Given the description of an element on the screen output the (x, y) to click on. 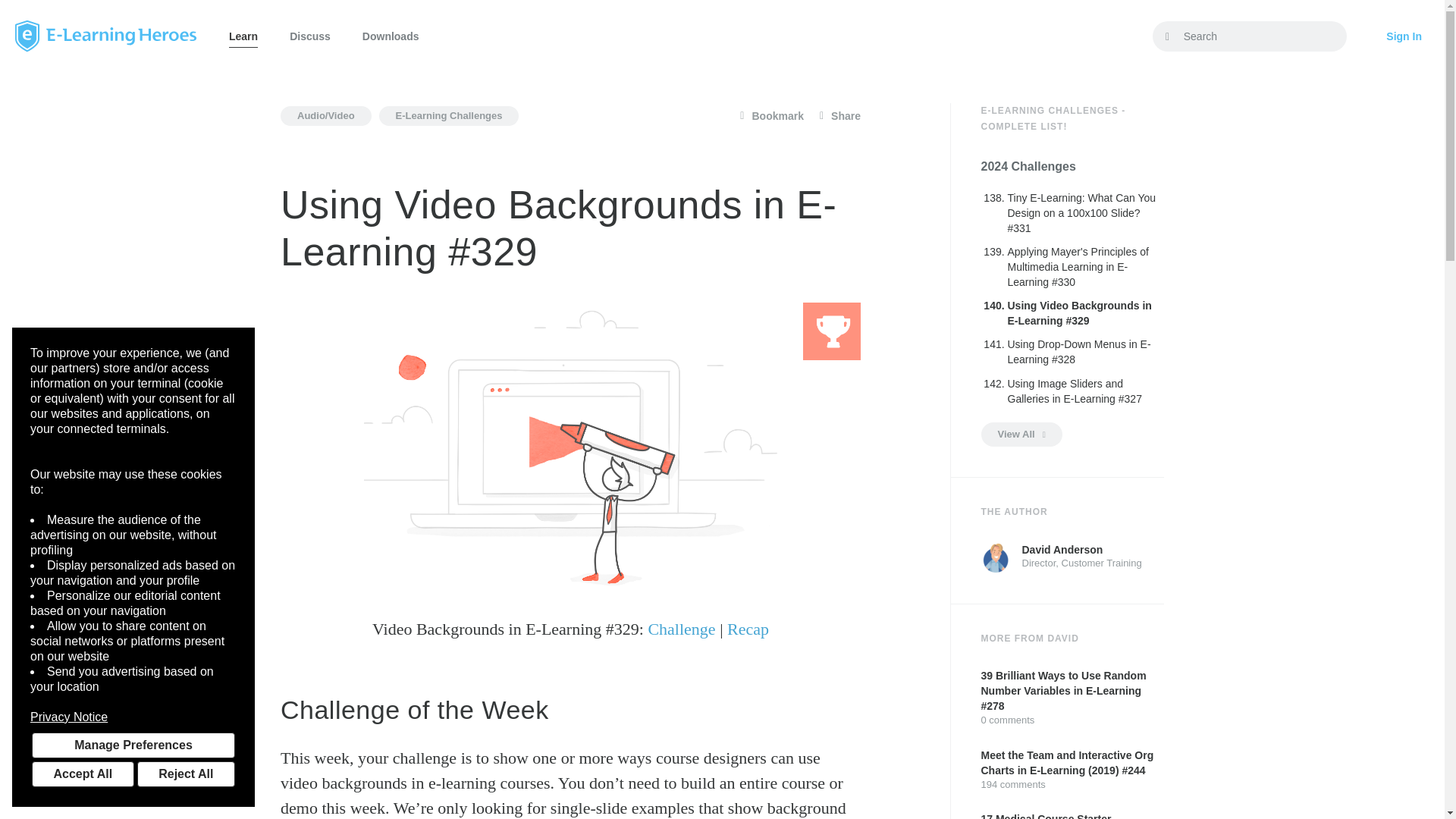
Privacy Notice (132, 717)
David Anderson (996, 557)
E-Learning Heroes (105, 36)
Reject All (185, 774)
Accept All (82, 774)
Manage Preferences (133, 745)
Sign In (1404, 36)
